Given the description of an element on the screen output the (x, y) to click on. 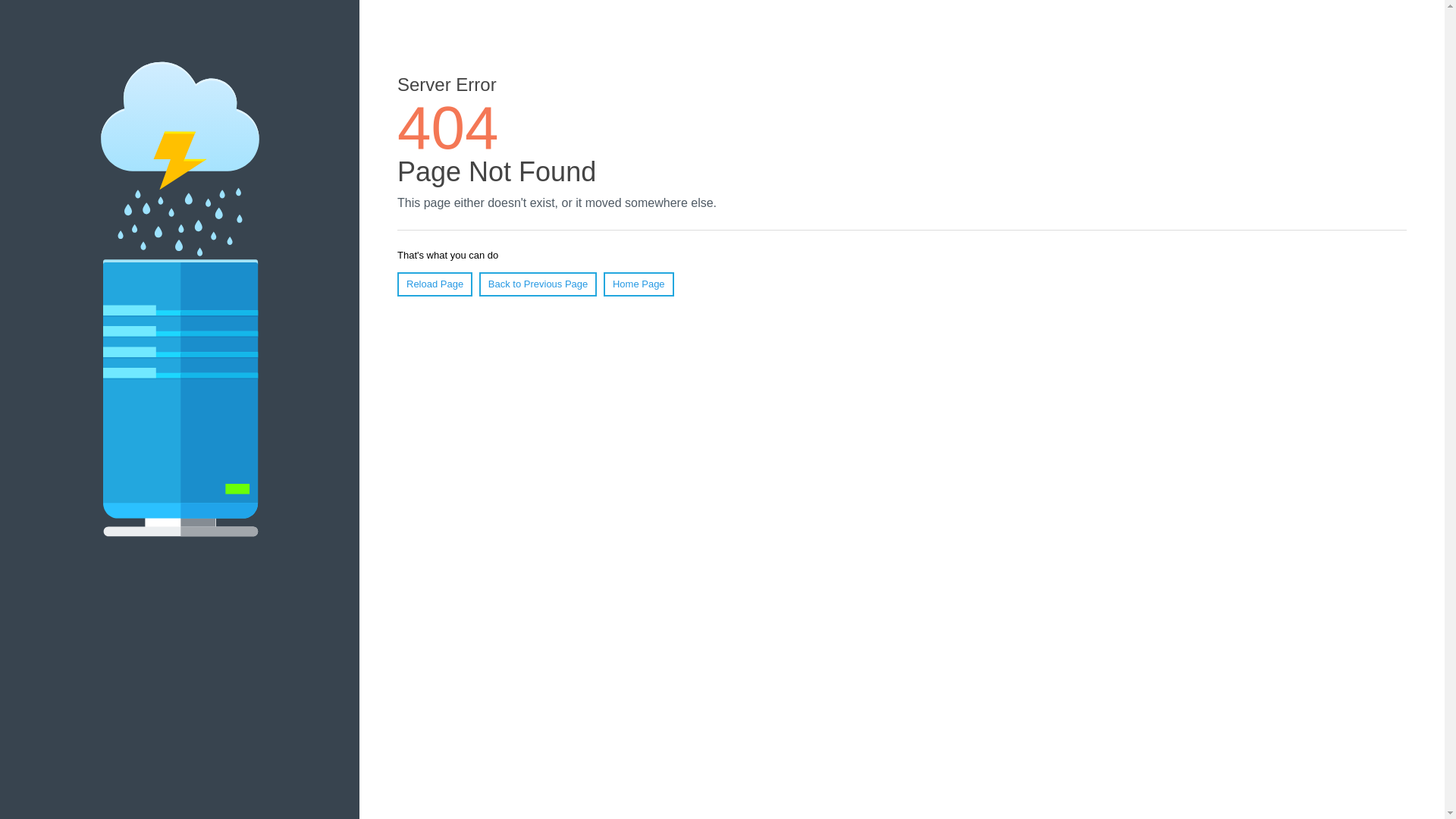
Reload Page Element type: text (434, 284)
Back to Previous Page Element type: text (538, 284)
Home Page Element type: text (638, 284)
